Given the description of an element on the screen output the (x, y) to click on. 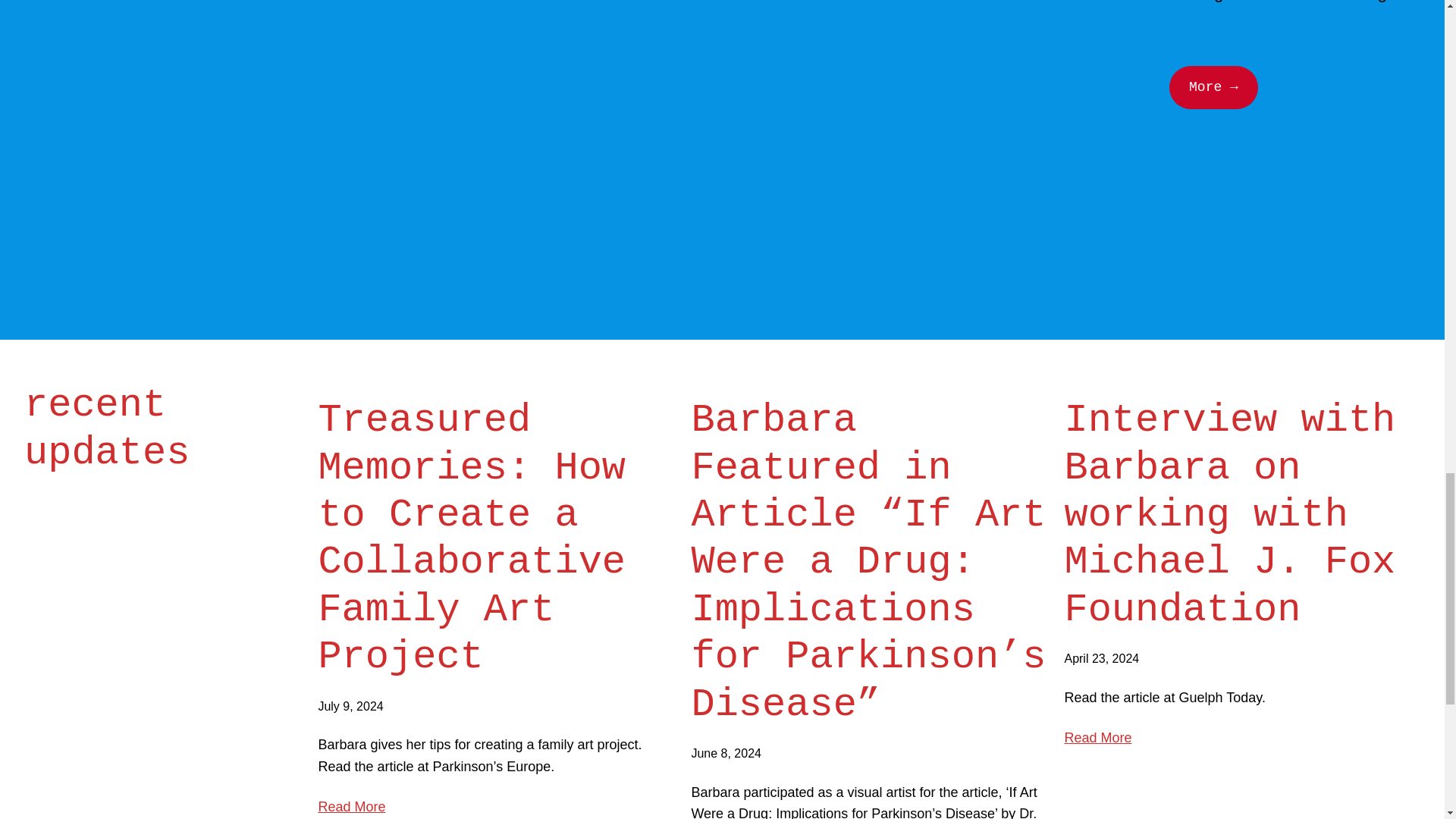
Read More (351, 807)
Read More (1097, 738)
